Given the description of an element on the screen output the (x, y) to click on. 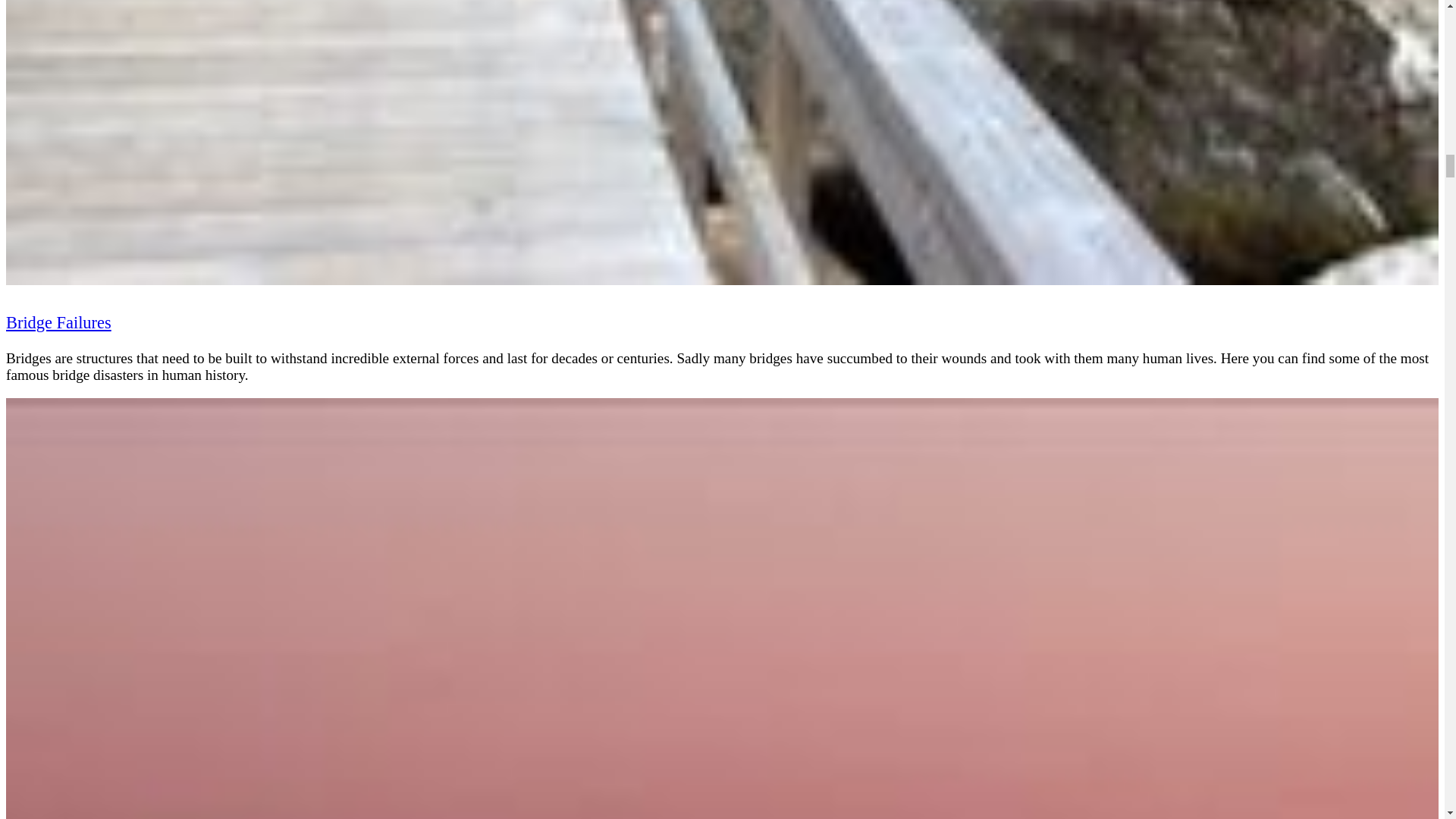
Bridge Failures (58, 322)
